Given the description of an element on the screen output the (x, y) to click on. 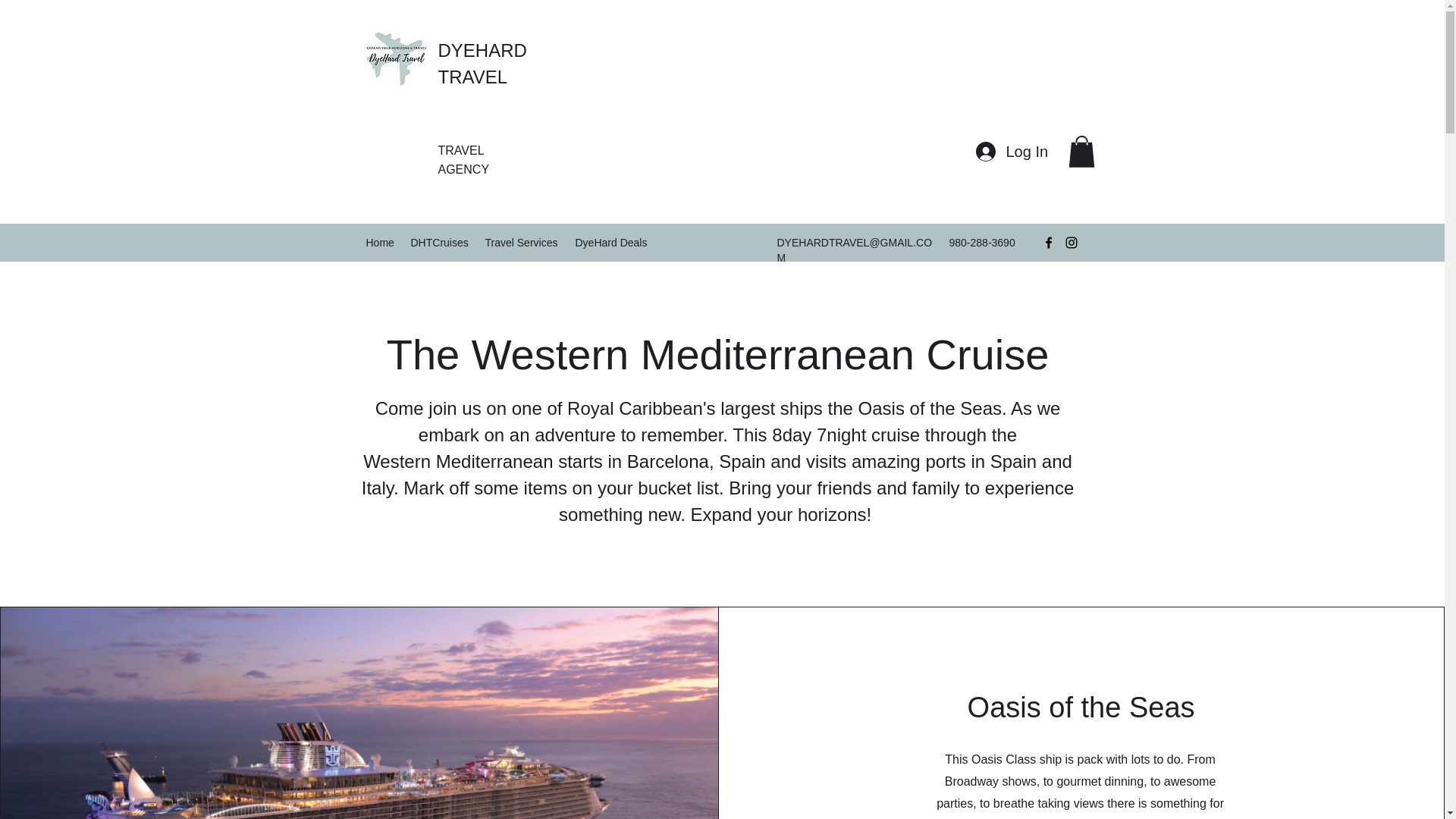
Mediterranean (777, 354)
Log In (1009, 151)
Travel Services (522, 241)
Home (380, 241)
DHTCruises (440, 241)
DyeHard Deals (612, 241)
